Given the description of an element on the screen output the (x, y) to click on. 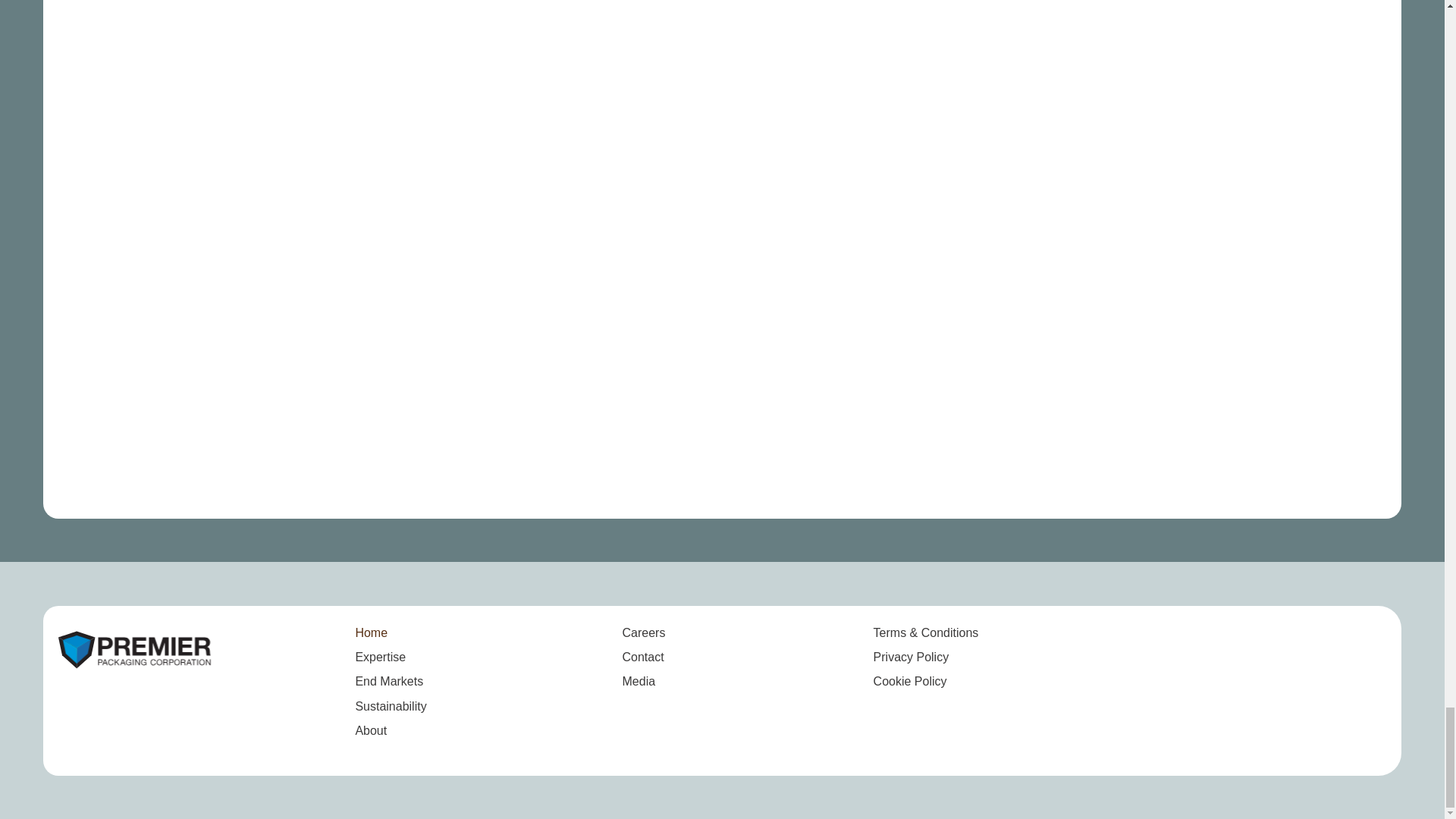
Careers (644, 632)
Home (422, 632)
Media (639, 680)
Sustainability (422, 706)
Contact (643, 656)
End Markets (422, 681)
Expertise (422, 657)
About (422, 730)
Cookie Policy (910, 680)
Privacy Policy (911, 656)
